Given the description of an element on the screen output the (x, y) to click on. 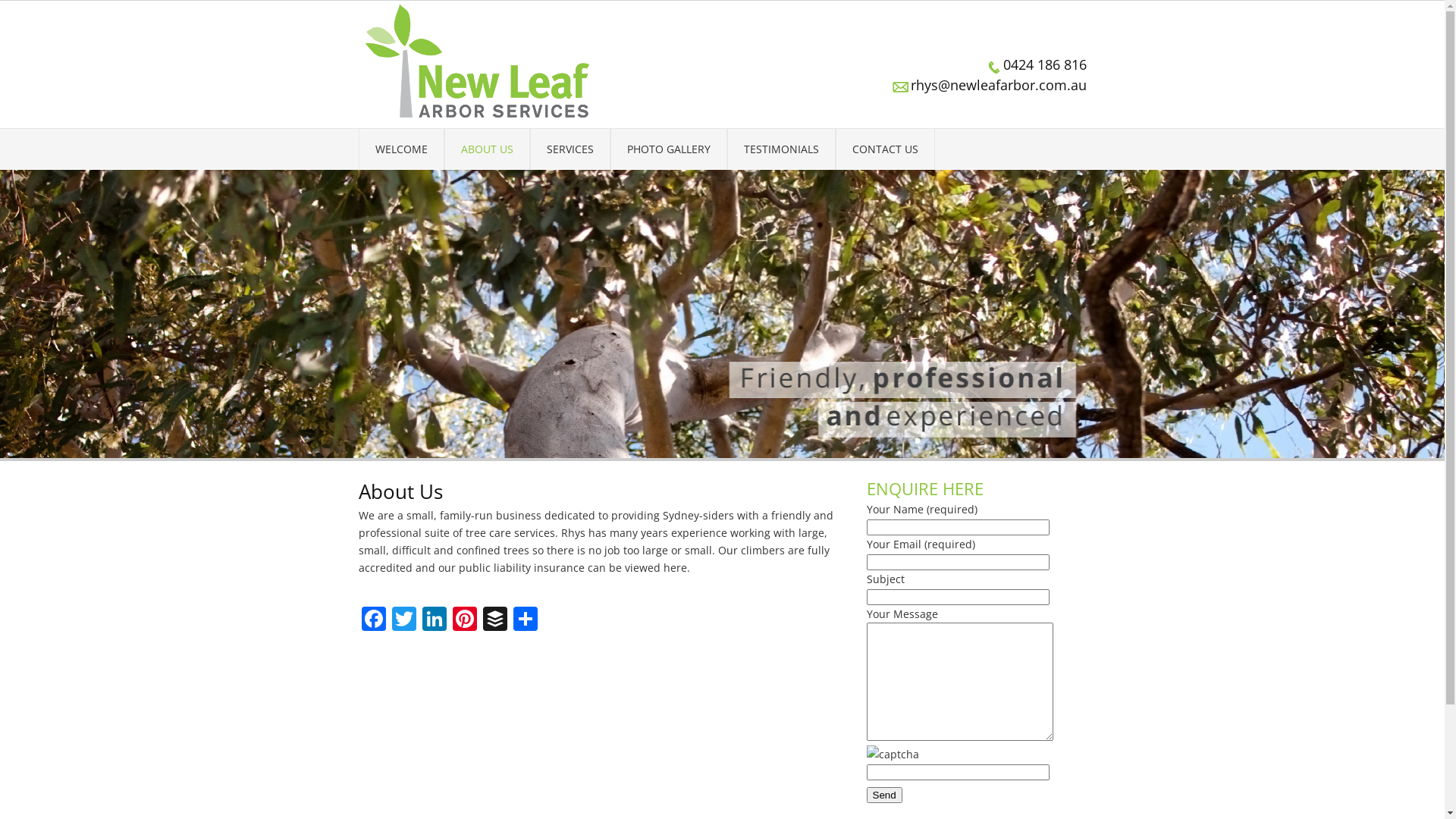
CONTACT US Element type: text (885, 148)
Send Element type: text (883, 795)
Buffer Element type: text (494, 619)
Pinterest Element type: text (463, 619)
New Leaf Arbor Element type: text (478, 60)
Share Element type: text (524, 619)
WELCOME Element type: text (400, 148)
Twitter Element type: text (403, 619)
SERVICES Element type: text (569, 148)
LinkedIn Element type: text (433, 619)
TESTIMONIALS Element type: text (780, 148)
Facebook Element type: text (372, 619)
PHOTO GALLERY Element type: text (667, 148)
ABOUT US Element type: text (487, 148)
